Given the description of an element on the screen output the (x, y) to click on. 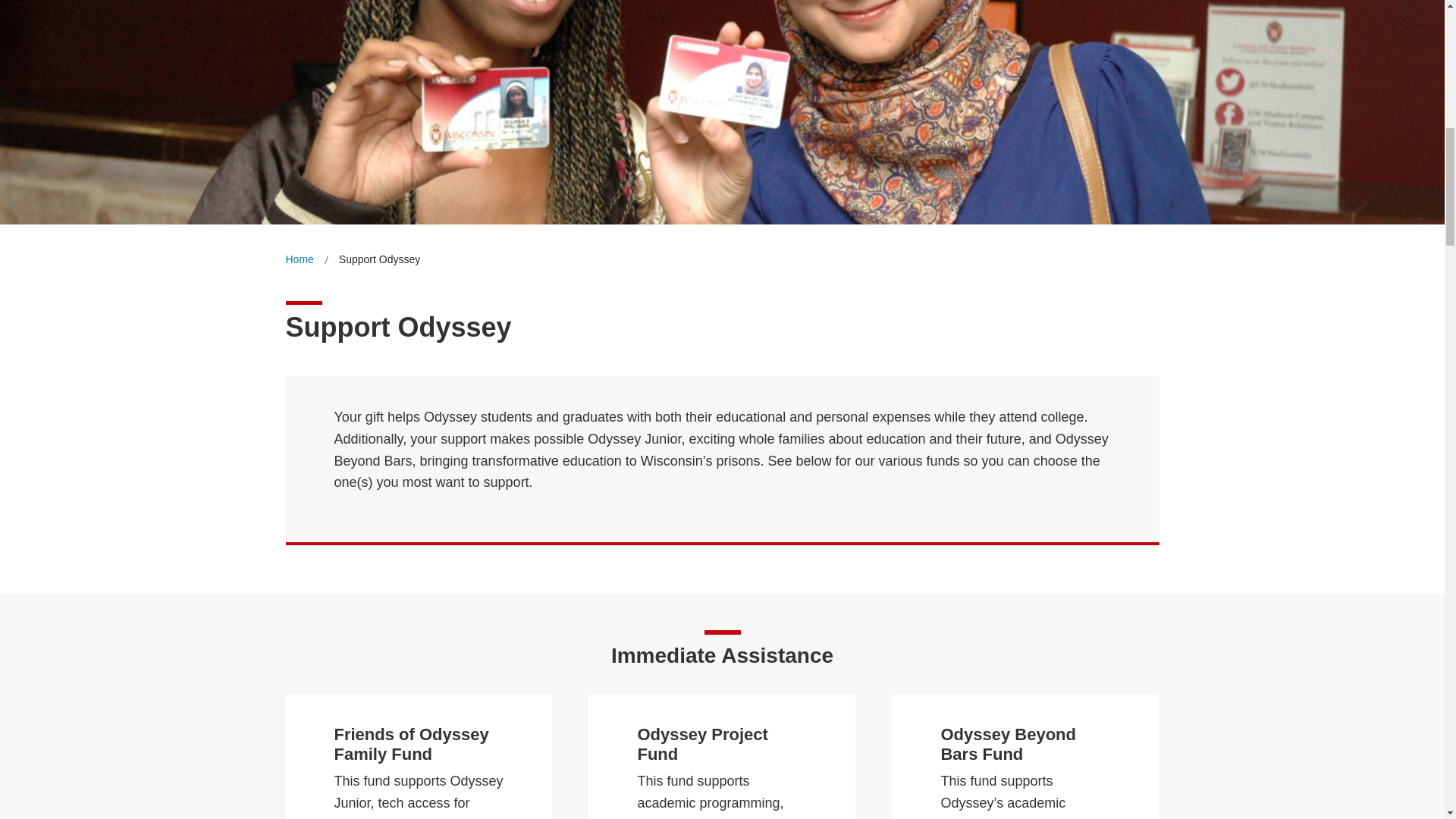
Home (299, 259)
Support Odyssey (379, 259)
Home (299, 259)
Support Odyssey (379, 259)
